Given the description of an element on the screen output the (x, y) to click on. 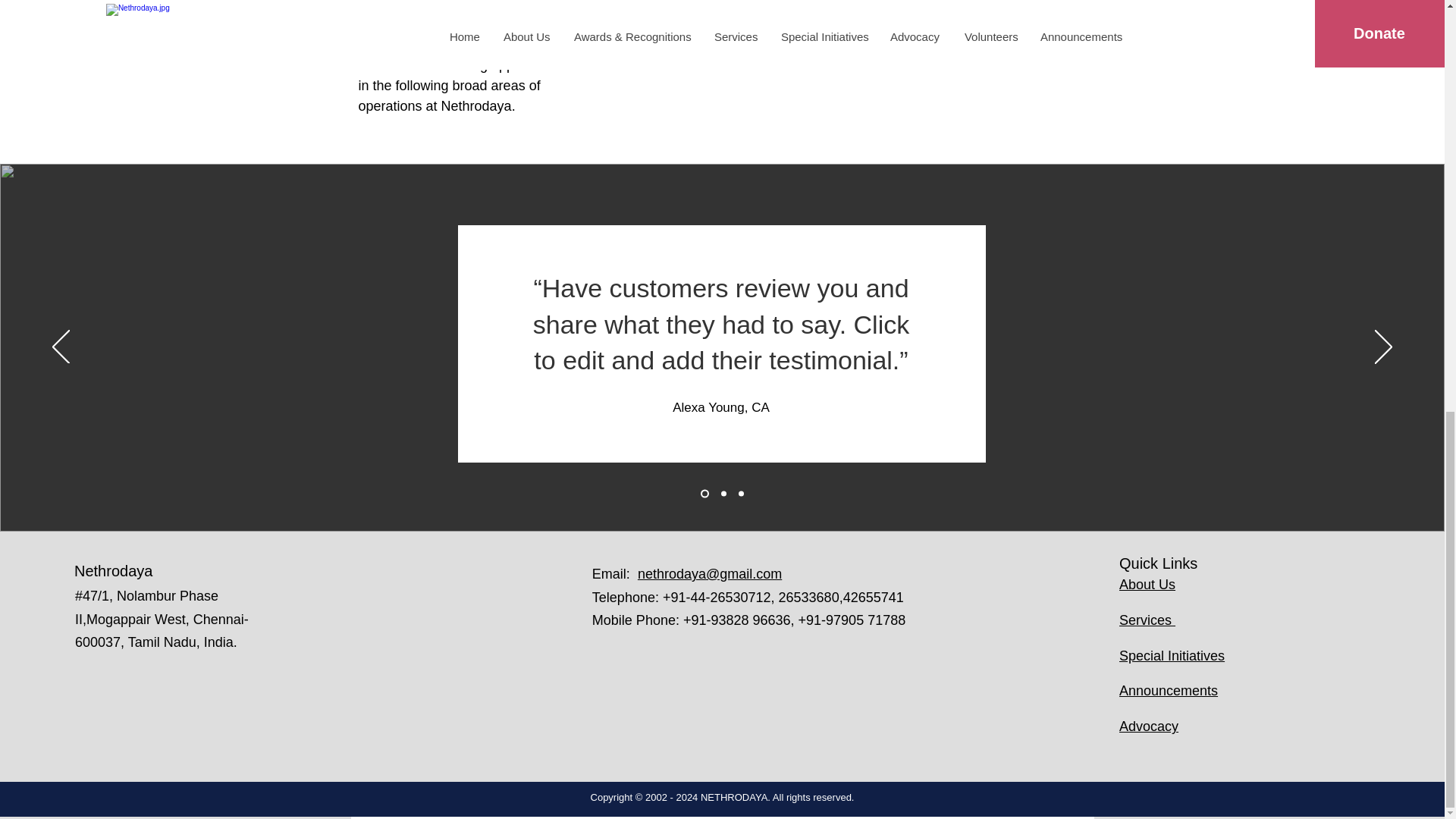
Initiatives (1195, 655)
Announcements (1168, 690)
Special  (1143, 655)
Services  (1146, 620)
About Us (1146, 584)
Advocacy (1148, 726)
